Given the description of an element on the screen output the (x, y) to click on. 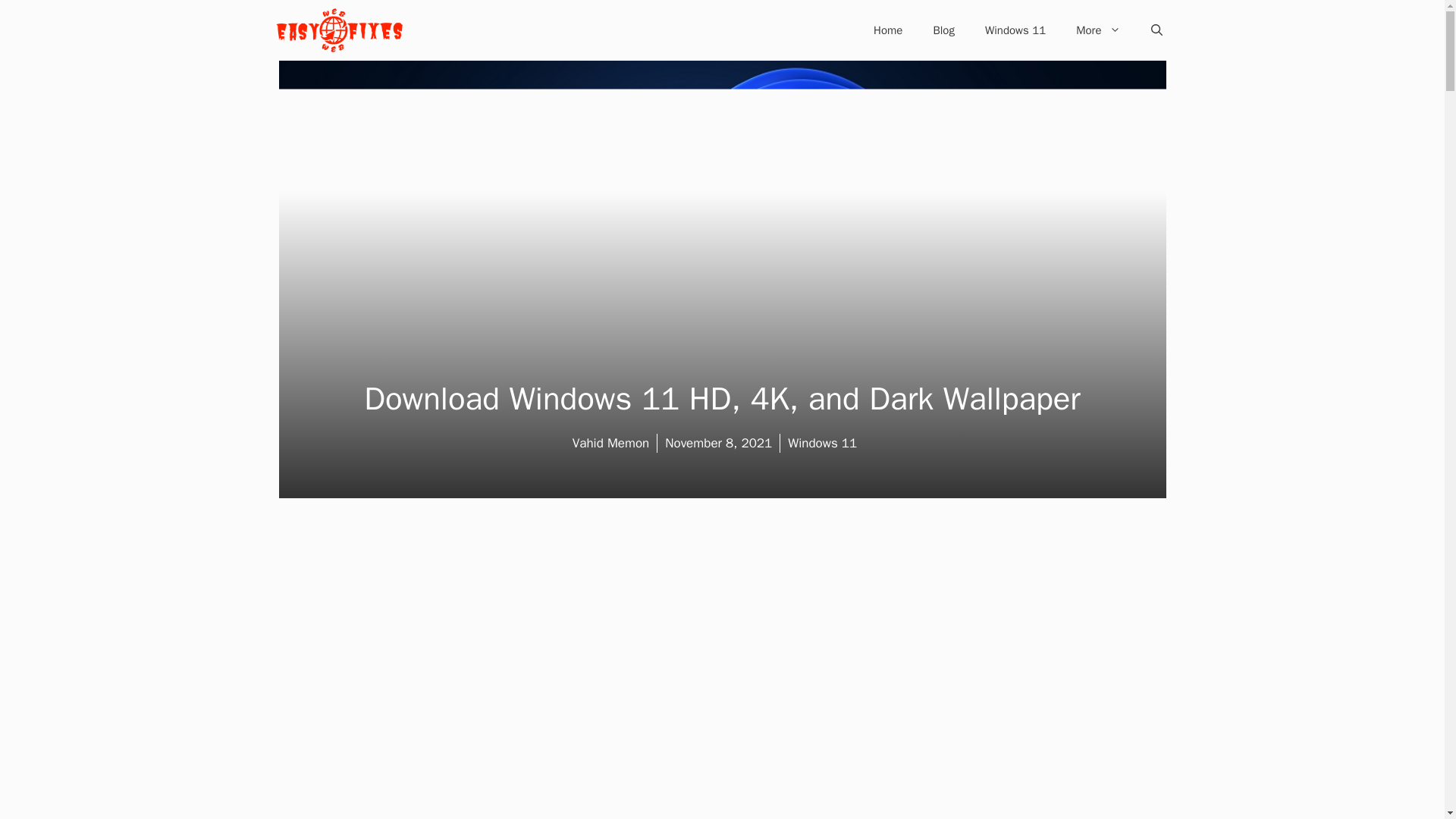
Vahid Memon (610, 442)
More (1098, 30)
Blog (943, 30)
Advertisement (752, 806)
Windows 11 (1015, 30)
Download Windows 11 HD, 4K, and Dark Wallpaper (722, 398)
Windows 11 (822, 442)
Home (888, 30)
EasyWebFixes.com (339, 30)
